Given the description of an element on the screen output the (x, y) to click on. 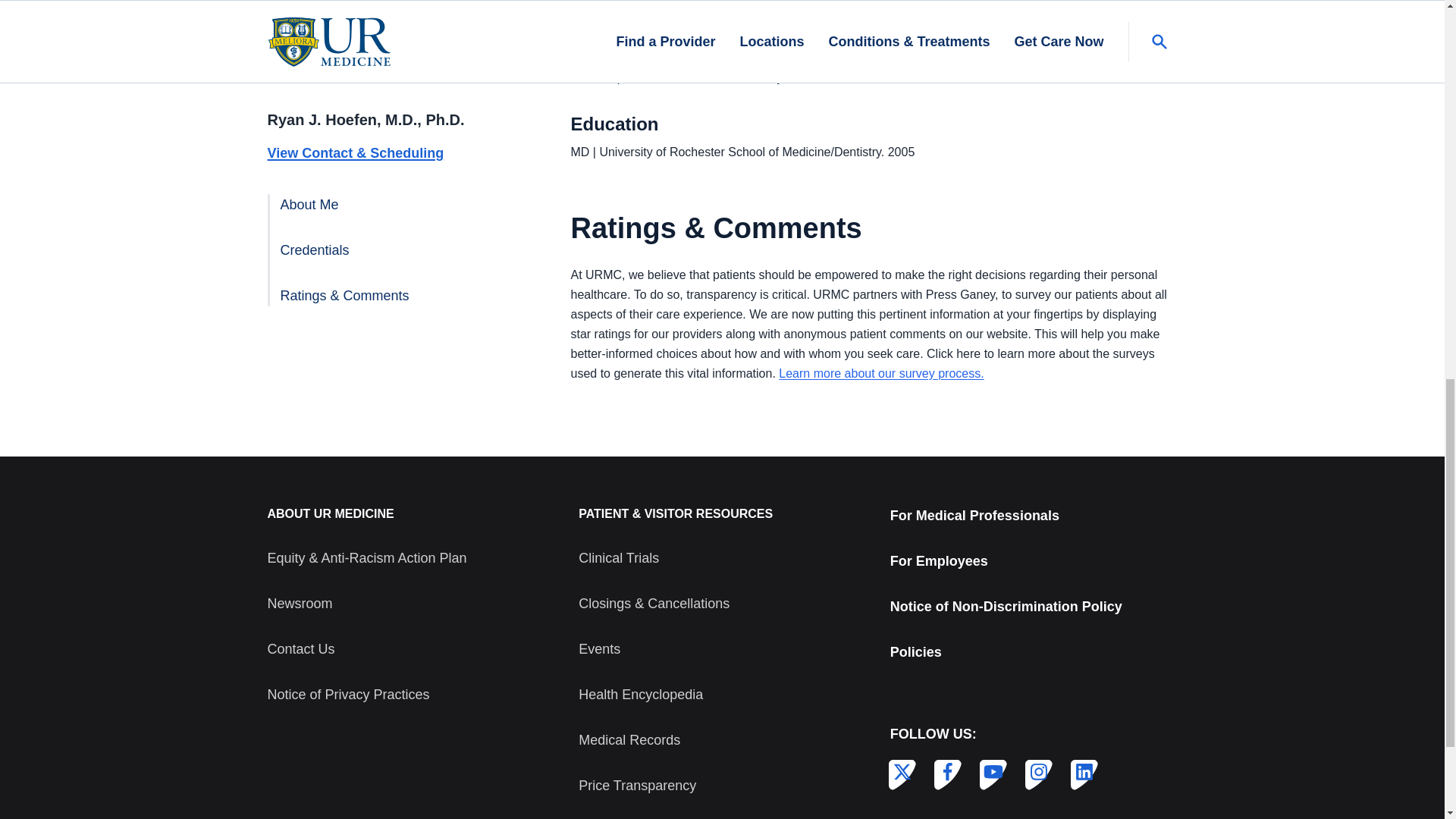
UR Medicine on Instagram (1035, 771)
UR Medicine on YouTube (990, 771)
UR Medicine on LinkedIn (1080, 771)
UR Medicine on X (898, 771)
UR Medicine on Facebook (944, 771)
